Given the description of an element on the screen output the (x, y) to click on. 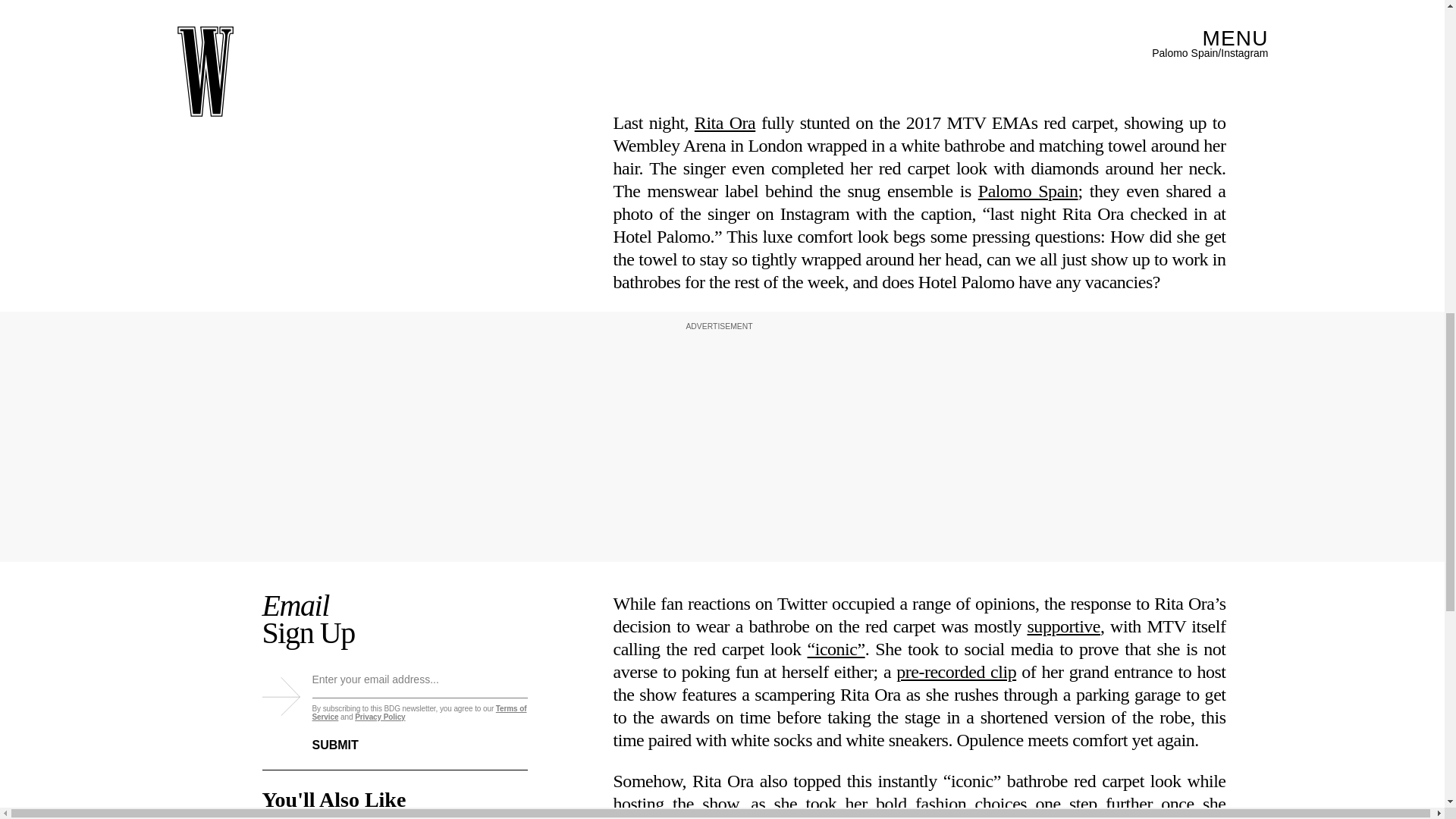
Terms of Service (420, 712)
Privacy Policy (379, 716)
SUBMIT (347, 736)
pre-recorded clip (956, 671)
supportive (1063, 626)
Palomo Spain (1028, 190)
Rita Ora (724, 122)
